Given the description of an element on the screen output the (x, y) to click on. 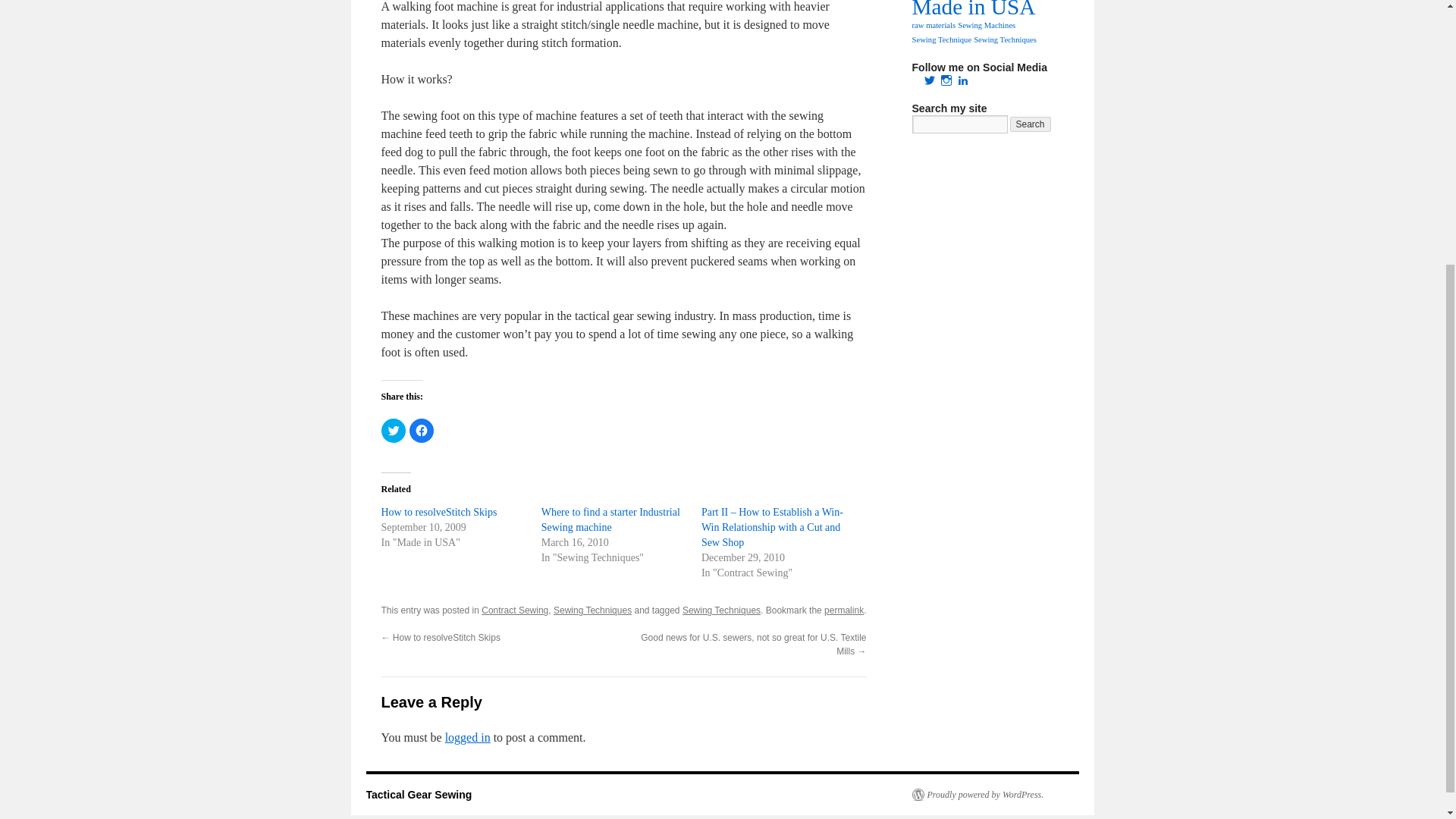
Where to find a starter Industrial Sewing machine (610, 519)
Search (1030, 124)
Click to share on Facebook (421, 430)
Proudly powered by WordPress. (977, 794)
Click to share on Twitter (392, 430)
raw materials (933, 25)
Tactical Gear Sewing (418, 794)
How to resolveStitch Skips (438, 511)
Sewing Techniques (592, 610)
Search (1030, 124)
